Given the description of an element on the screen output the (x, y) to click on. 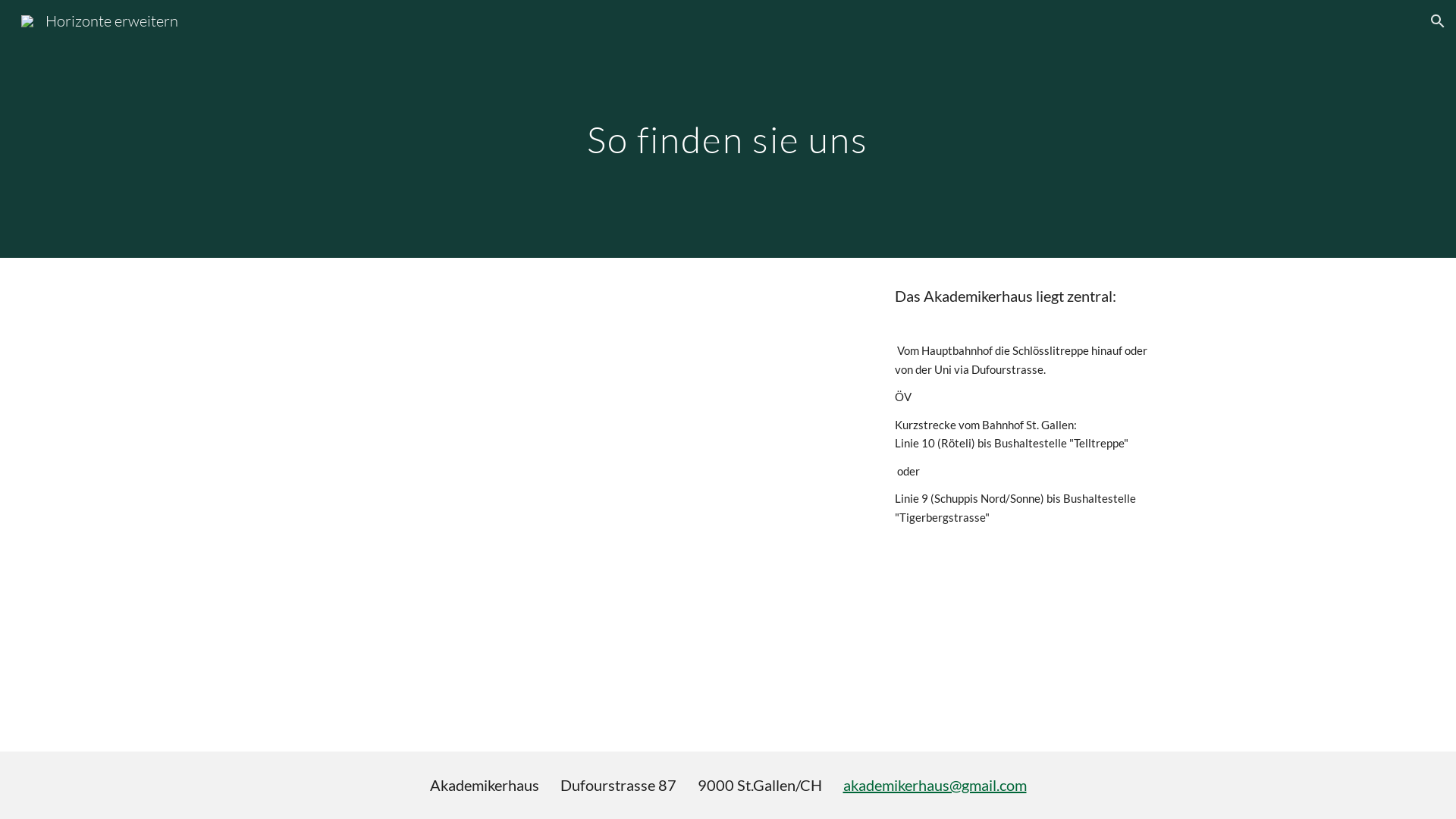
Horizonte erweitern Element type: text (99, 18)
akademikerhaus@gmail.com Element type: text (934, 784)
